Given the description of an element on the screen output the (x, y) to click on. 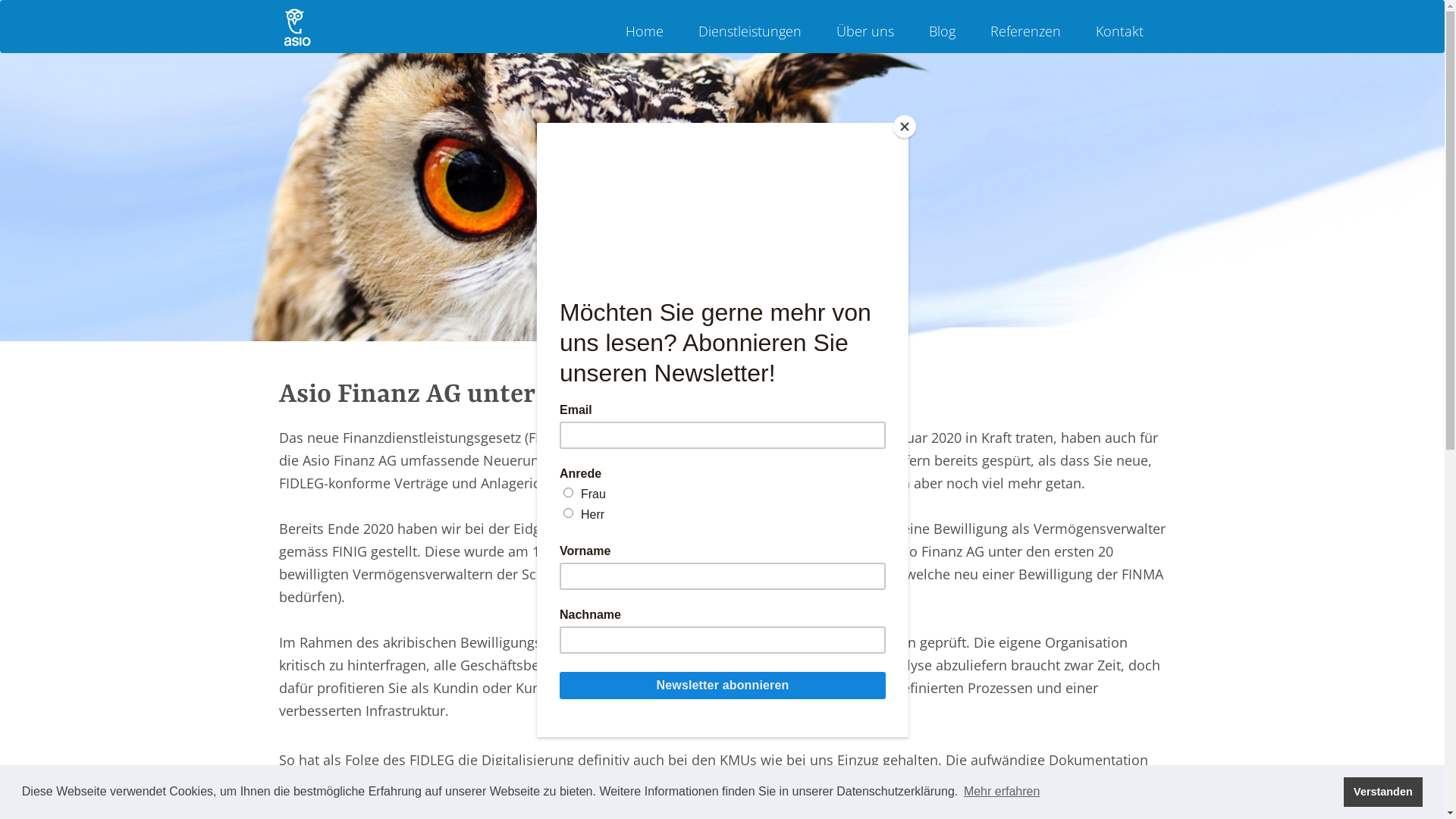
Mehr erfahren Element type: text (1001, 791)
Kontakt Element type: text (1119, 31)
Blog Element type: text (941, 31)
Home Element type: text (644, 31)
Verstanden Element type: text (1383, 791)
Referenzen Element type: text (1024, 31)
Dienstleistungen Element type: text (749, 31)
